Given the description of an element on the screen output the (x, y) to click on. 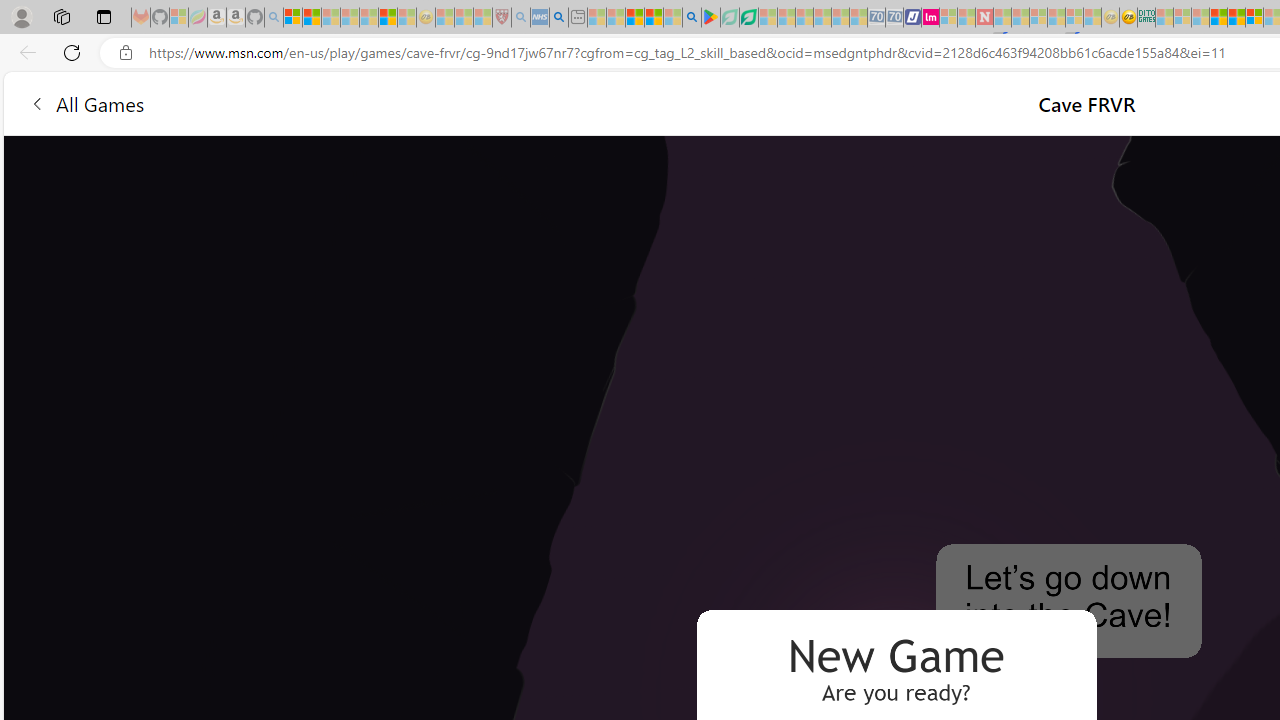
Microsoft Word - consumer-privacy address update 2.2021 (748, 17)
Terms of Use Agreement - Sleeping (729, 17)
